Given the description of an element on the screen output the (x, y) to click on. 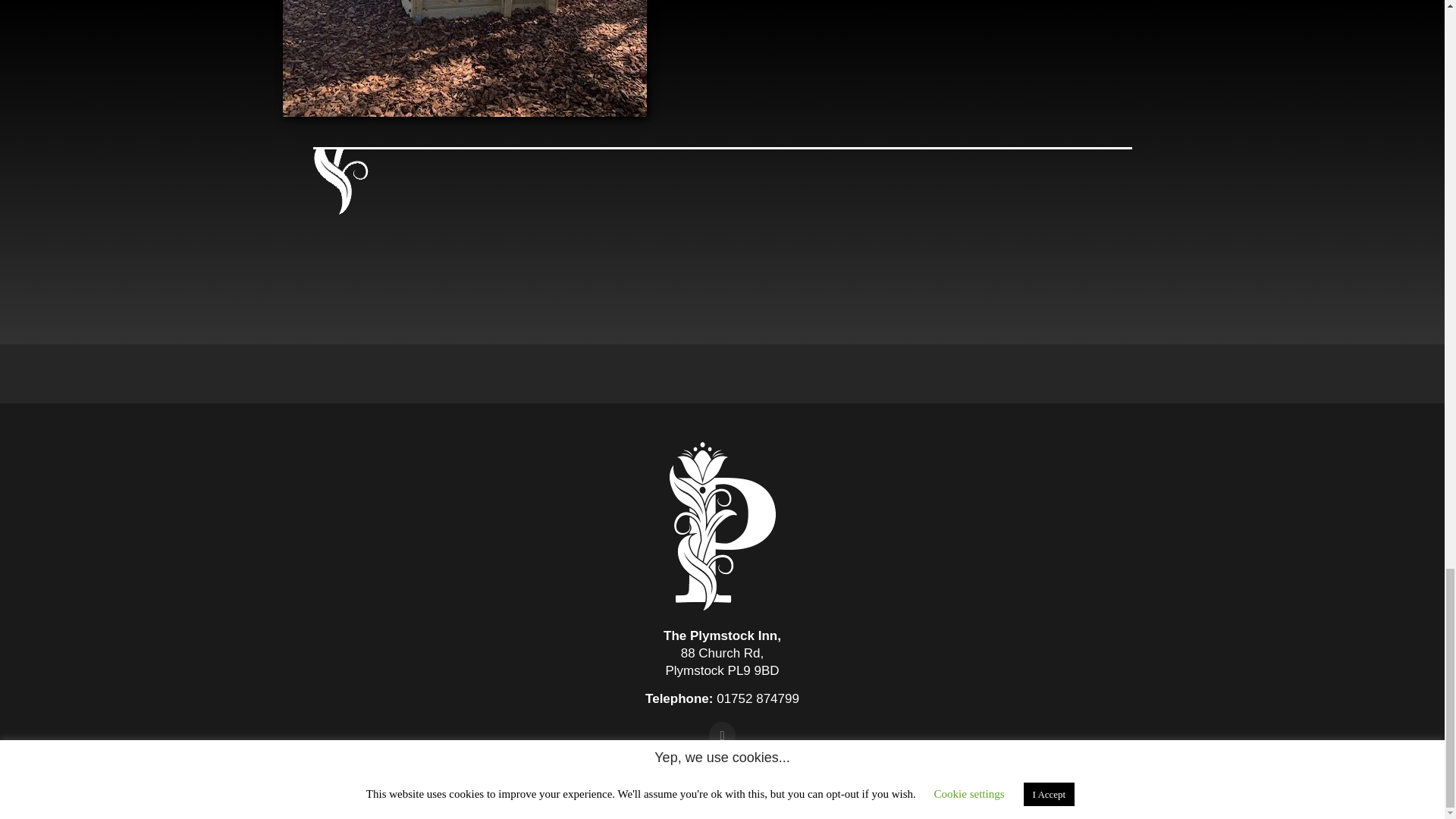
Websites for Business by Doive (722, 799)
